Given the description of an element on the screen output the (x, y) to click on. 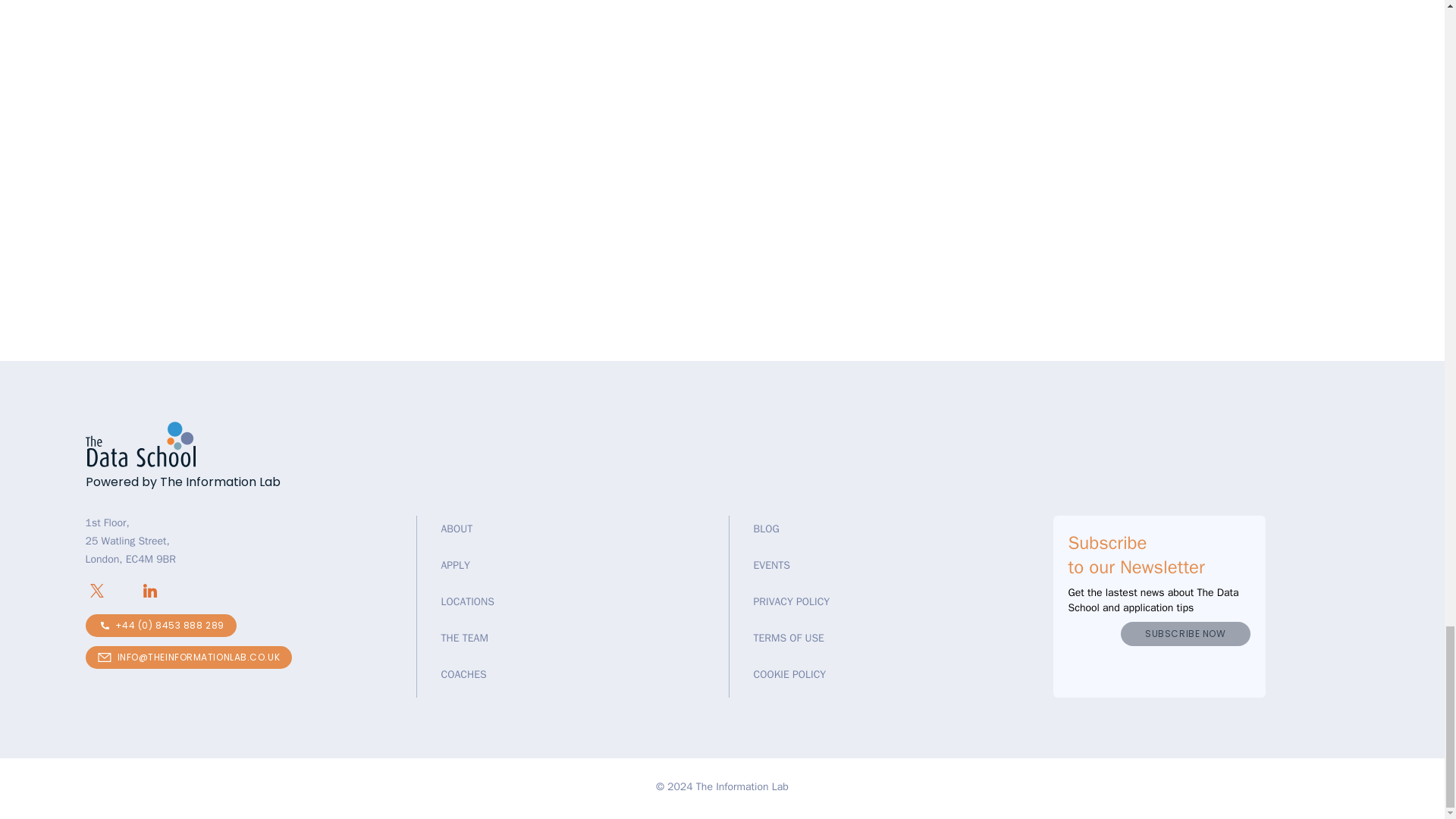
EVENTS (772, 564)
TERMS OF USE (789, 637)
LOCATIONS (468, 601)
BLOG (766, 528)
THE TEAM (464, 637)
COOKIE POLICY (790, 674)
COACHES (463, 674)
ABOUT (457, 528)
PRIVACY POLICY (791, 601)
APPLY (455, 564)
